Given the description of an element on the screen output the (x, y) to click on. 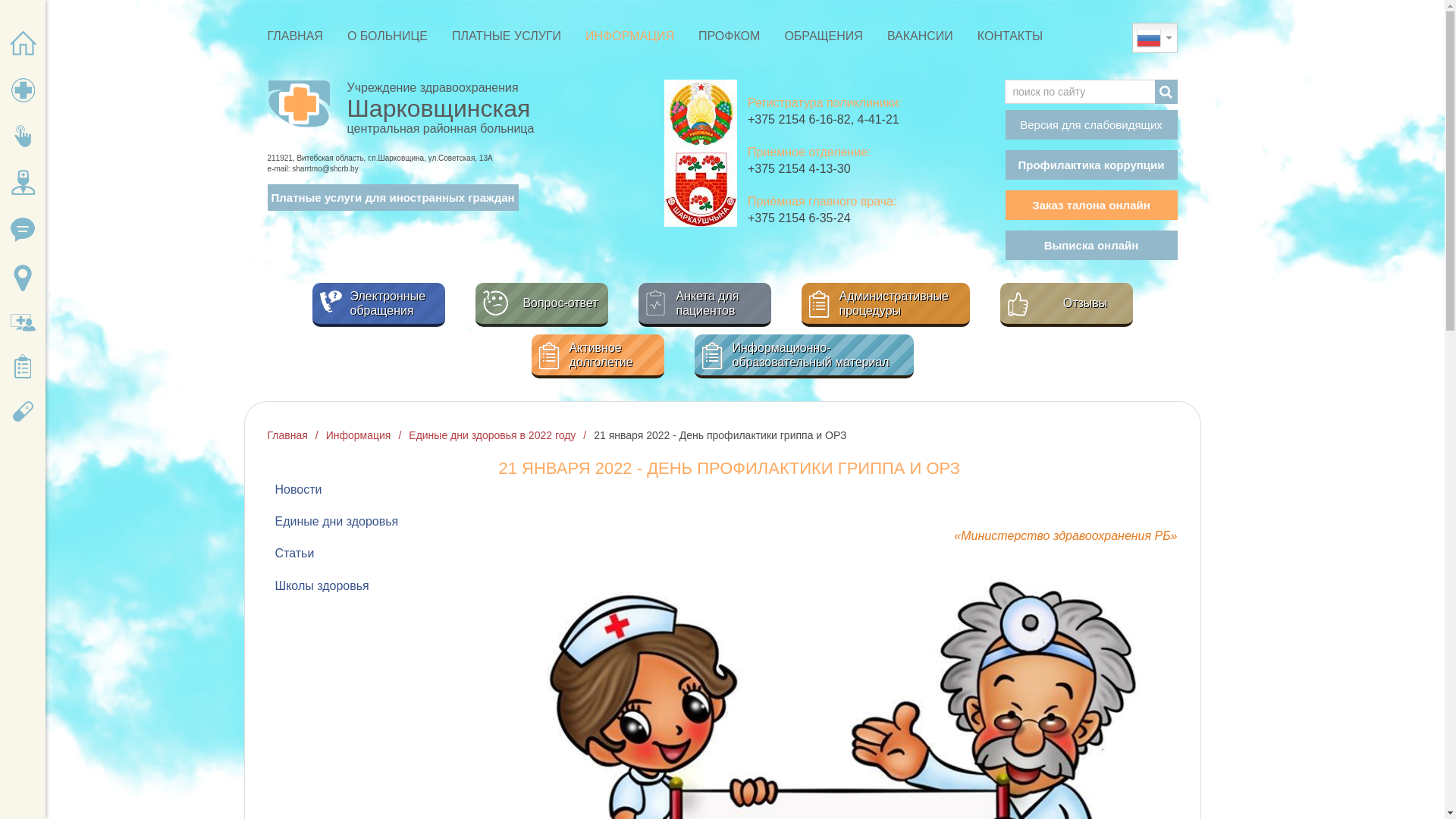
+375 2154 4-13-30 Element type: text (798, 168)
+375 2154 6-16-82 Element type: text (798, 118)
+375 2154 6-35-24 Element type: text (798, 217)
4-41-21 Element type: text (876, 118)
